Given the description of an element on the screen output the (x, y) to click on. 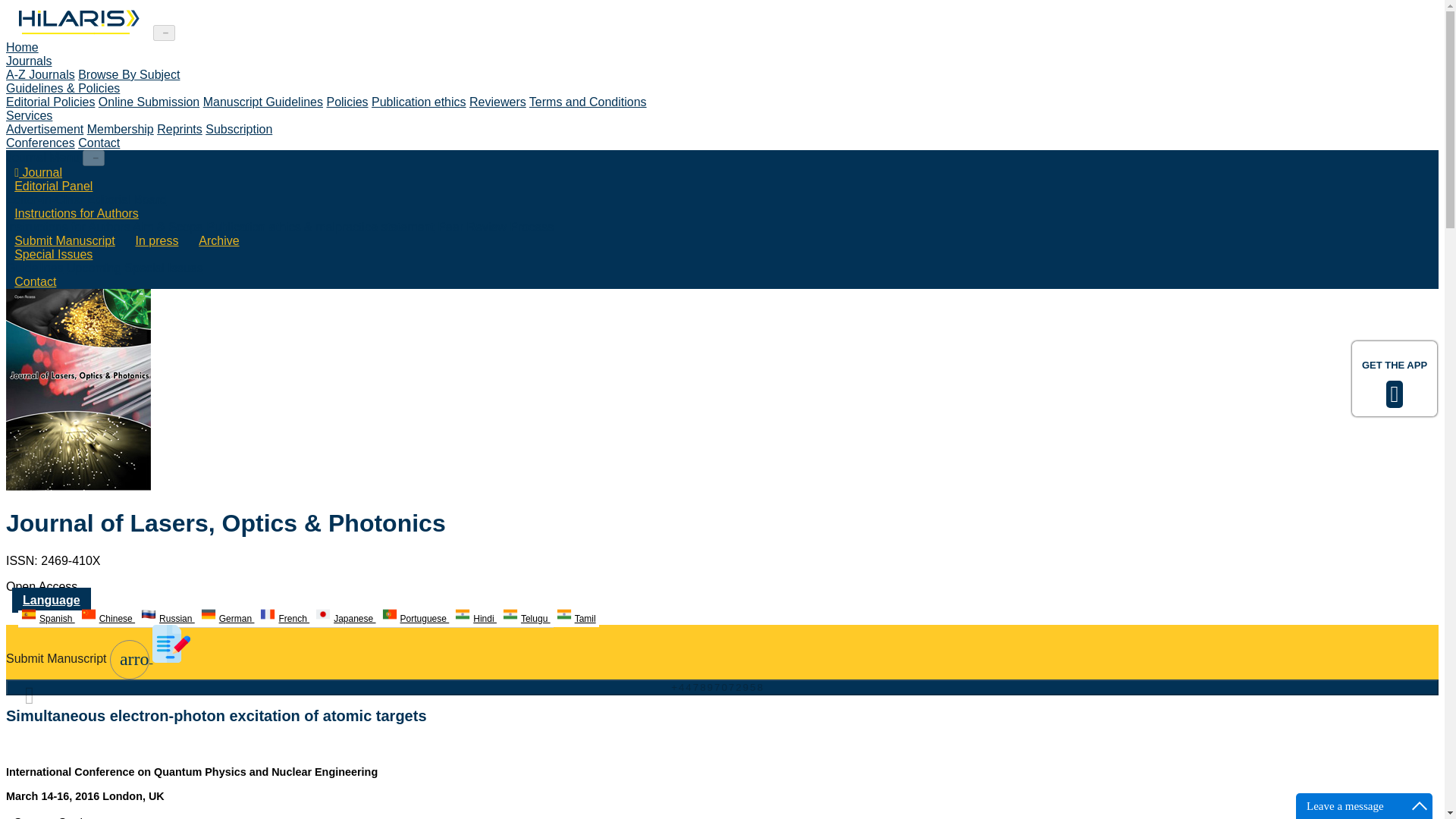
Journal Menu (42, 156)
Manuscript Guidelines (263, 101)
Reprints (179, 128)
Subscription (238, 128)
Browse By Subject (128, 74)
A-Z Journals (40, 74)
Reviewers (496, 101)
Maximize (1419, 805)
Publication ethics (418, 101)
Online Submission (149, 101)
A-Z Journals (40, 74)
Membership (120, 128)
Submit Manuscript (64, 240)
Home (22, 47)
Click here (77, 31)
